Given the description of an element on the screen output the (x, y) to click on. 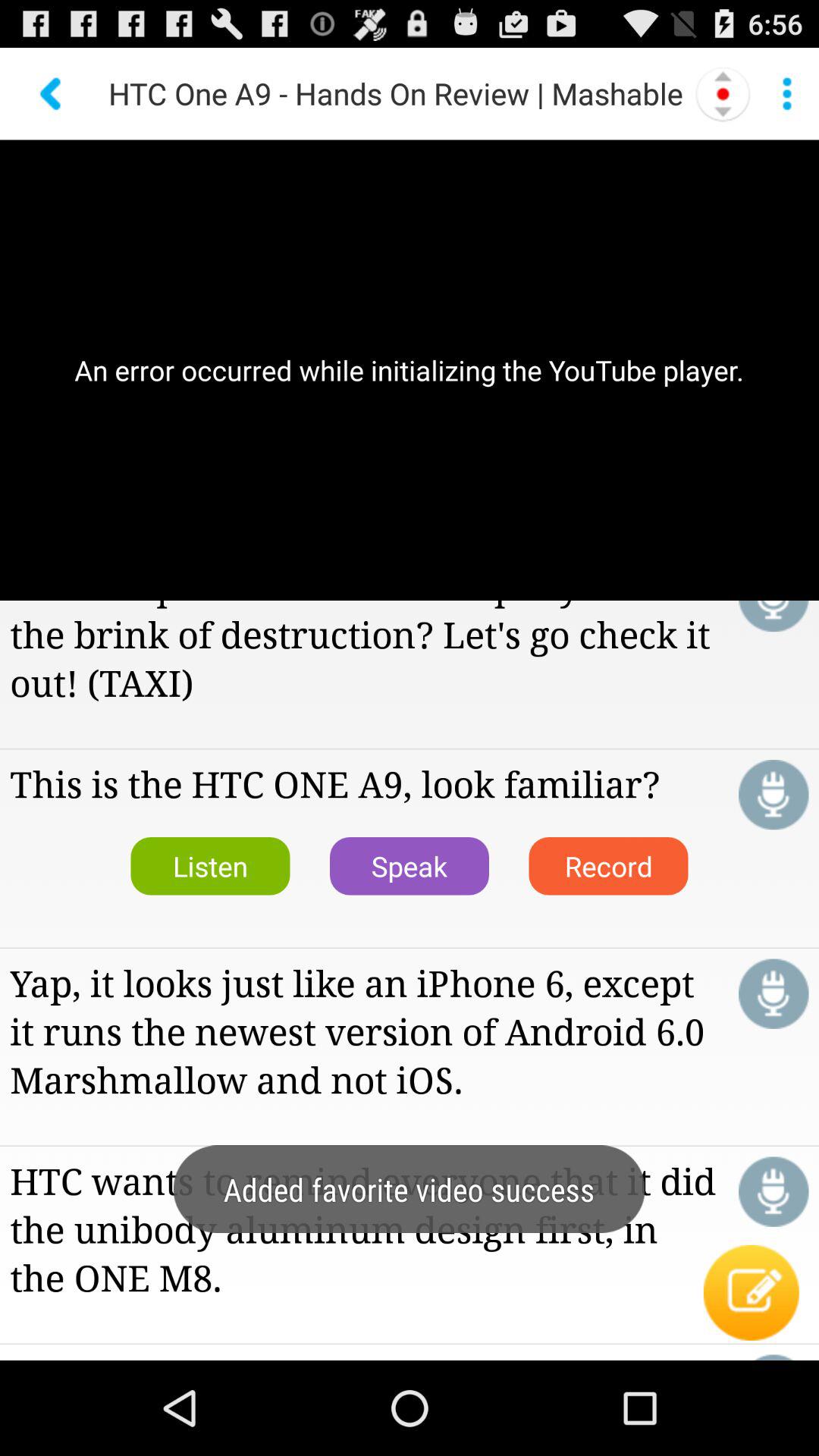
campass navigation (723, 93)
